Given the description of an element on the screen output the (x, y) to click on. 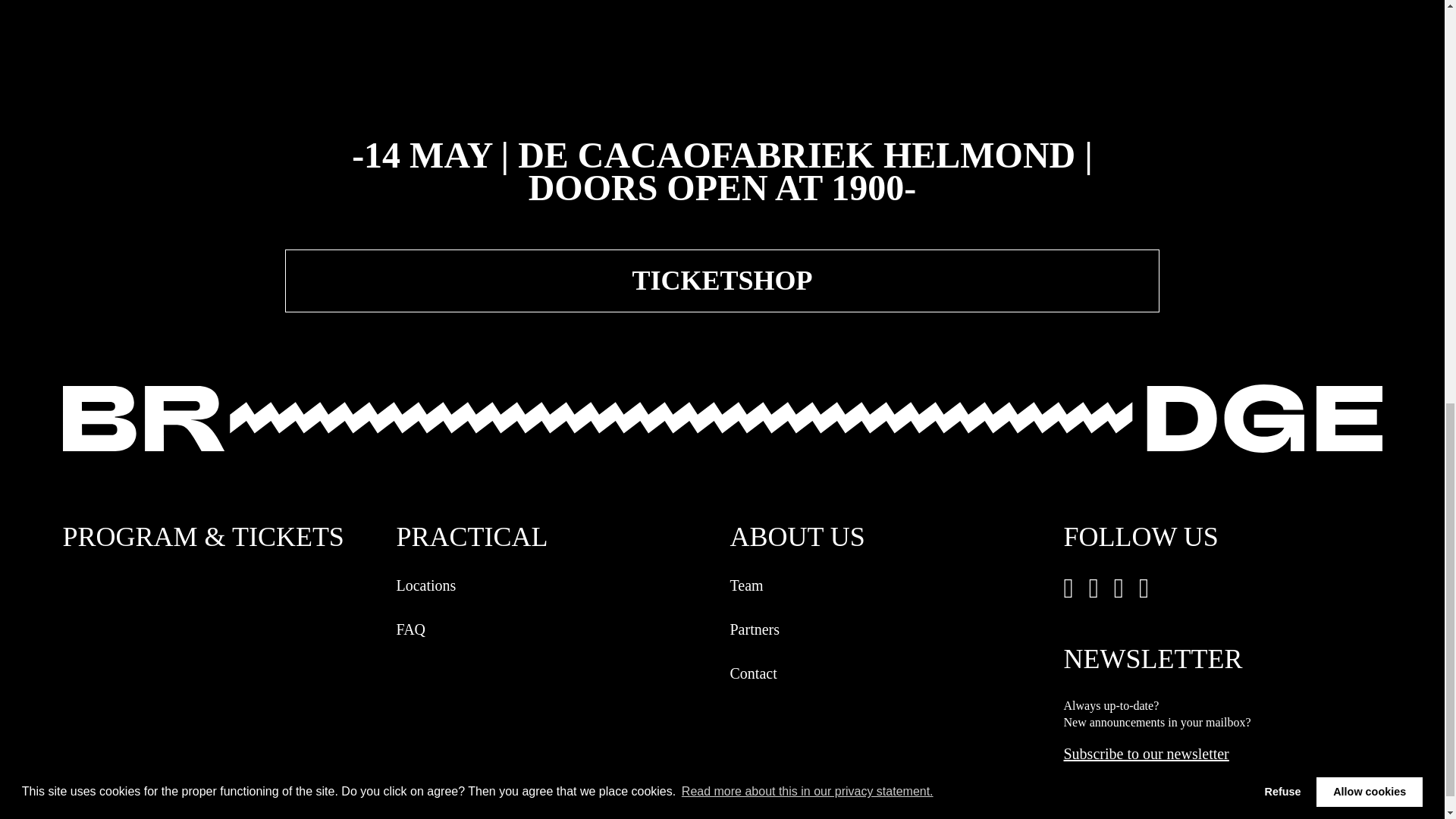
PRACTICAL (555, 540)
Privacy statement (158, 783)
FAQ (555, 629)
Partners (888, 629)
TICKETSHOP (721, 280)
Locations (555, 585)
Contact (888, 673)
ABOUT US (888, 540)
Subscribe to our newsletter (1145, 753)
Cookies (228, 783)
Team (888, 585)
